Given the description of an element on the screen output the (x, y) to click on. 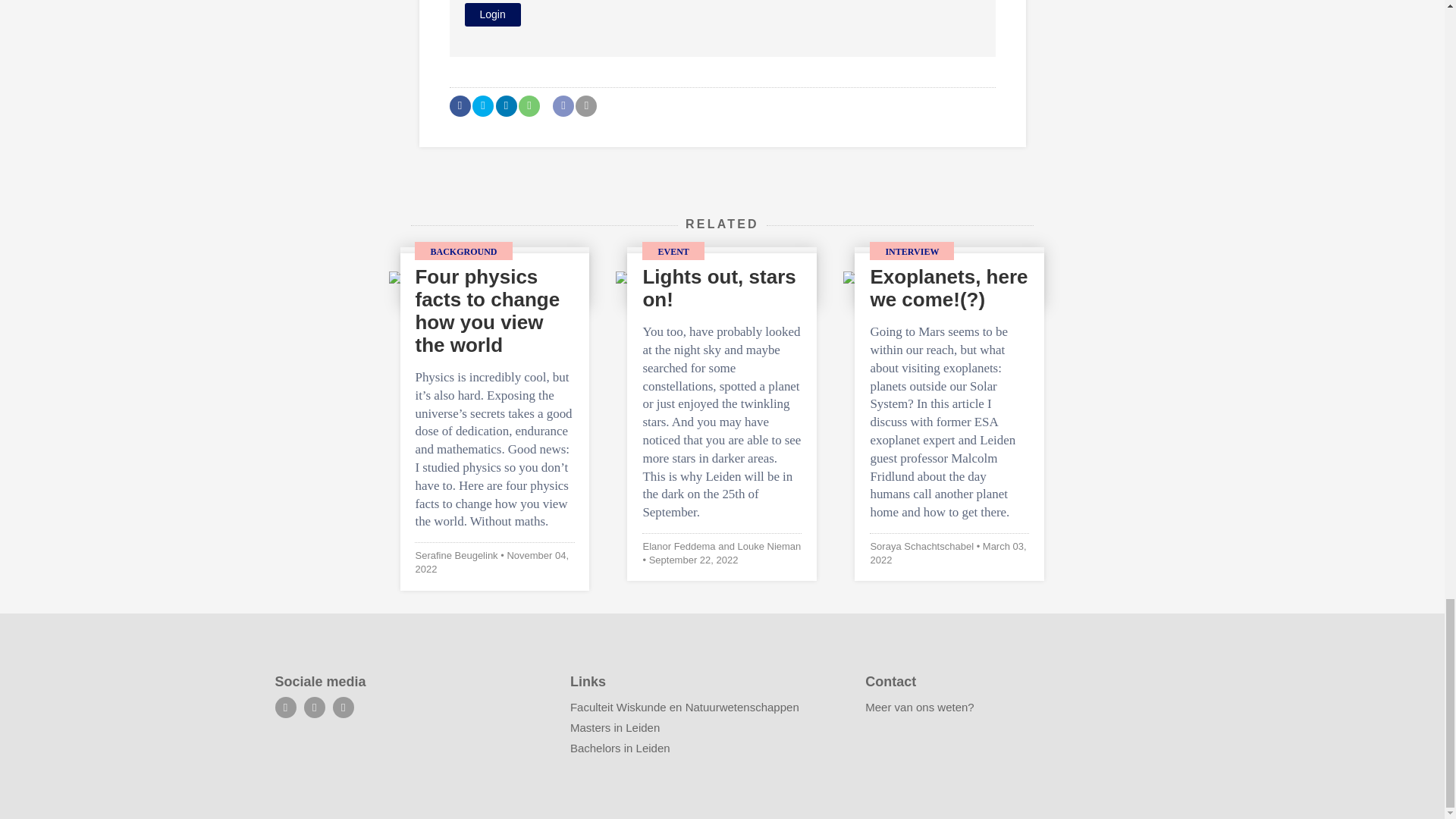
Bachelors in Leiden (619, 748)
Masters in Leiden (614, 727)
Meer van ons weten? (919, 707)
Faculteit Wiskunde en Natuurwetenschappen (684, 707)
